Given the description of an element on the screen output the (x, y) to click on. 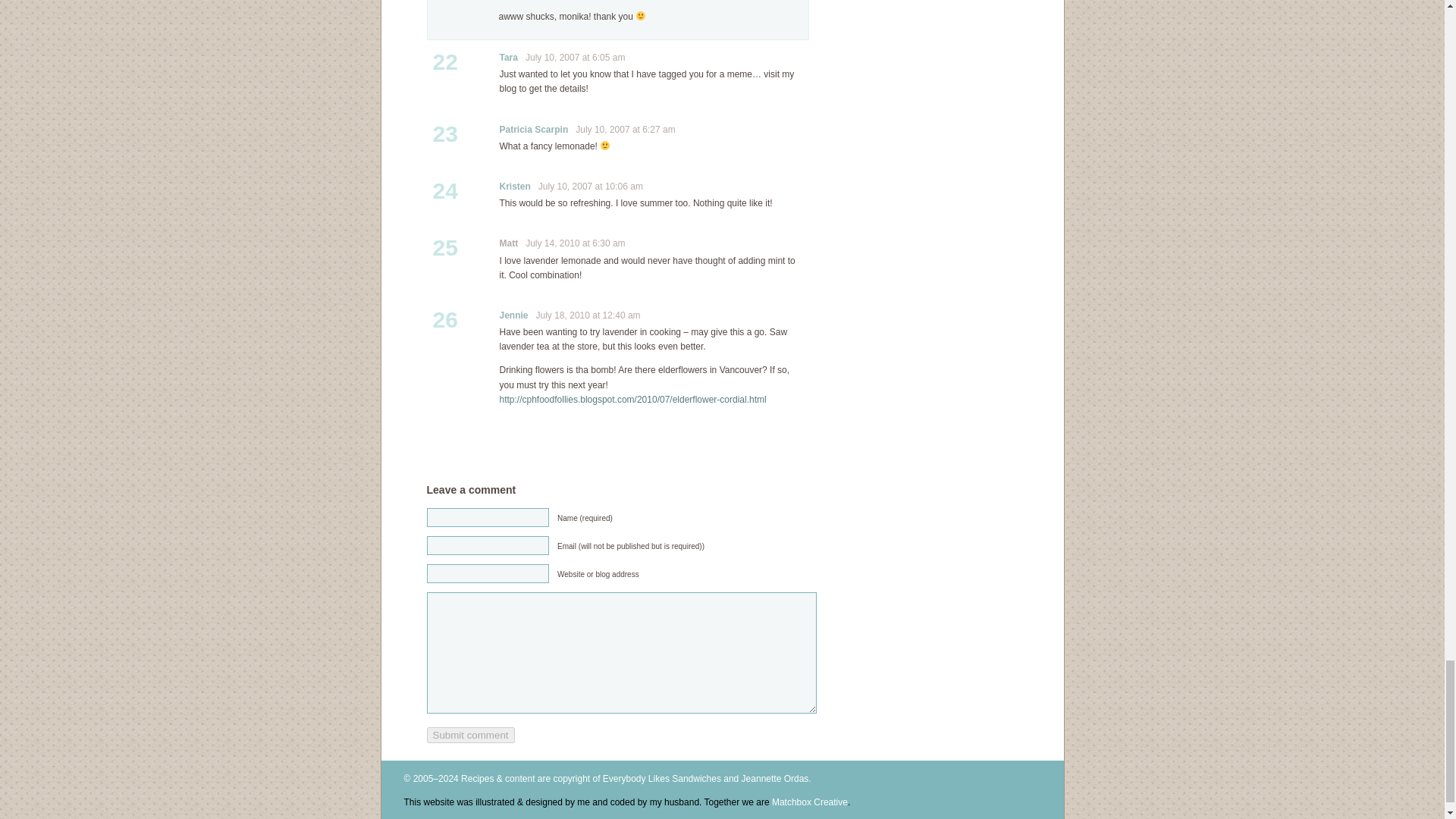
Submit comment (469, 734)
